Given the description of an element on the screen output the (x, y) to click on. 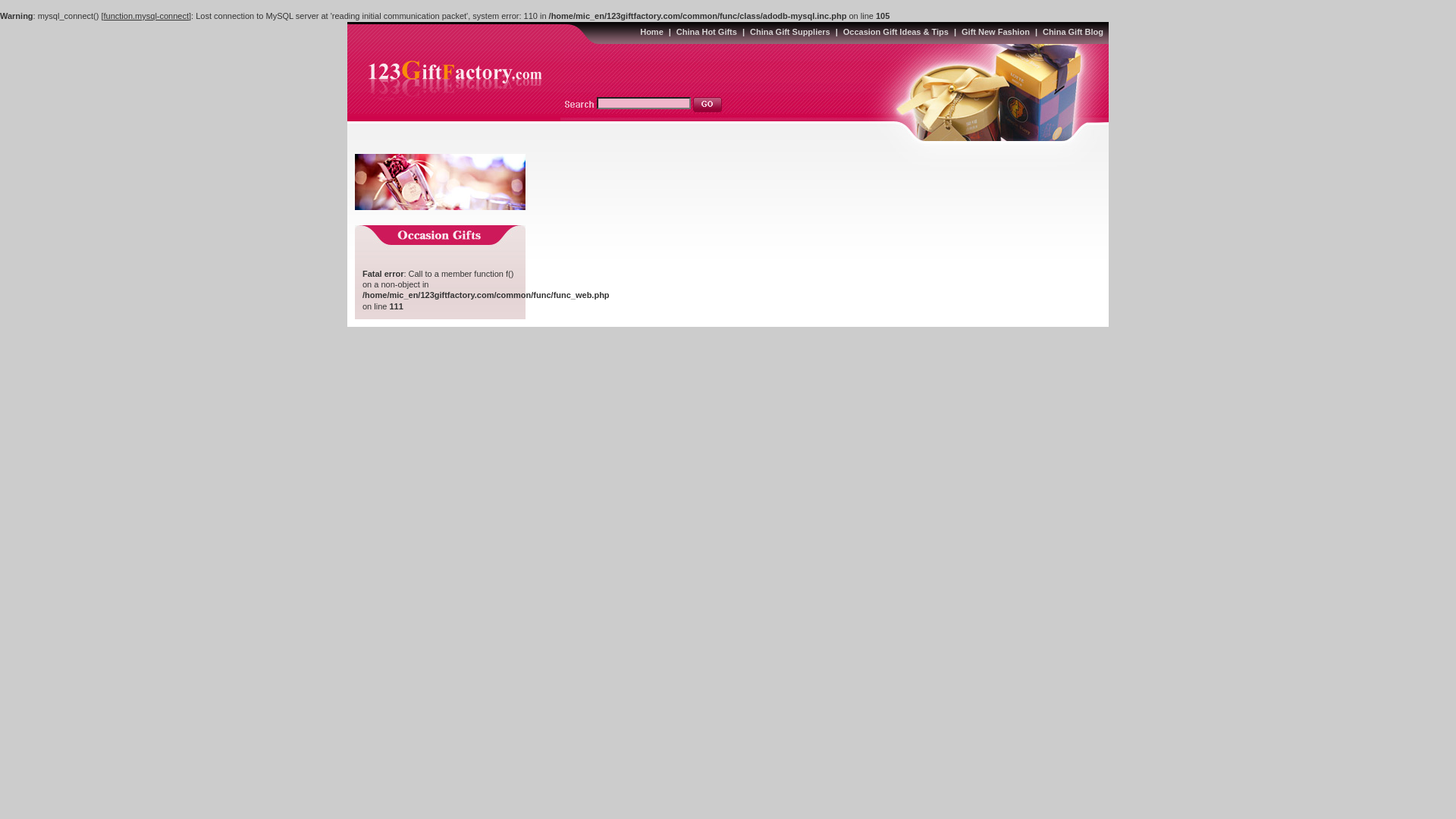
function.mysql-connect Element type: text (146, 15)
China Gift Suppliers Element type: text (789, 31)
Gift New Fashion Element type: text (995, 31)
Occasion Gift Ideas & Tips Element type: text (895, 31)
Home Element type: text (651, 31)
China Gift Blog Element type: text (1072, 31)
China Hot Gifts Element type: text (706, 31)
